Given the description of an element on the screen output the (x, y) to click on. 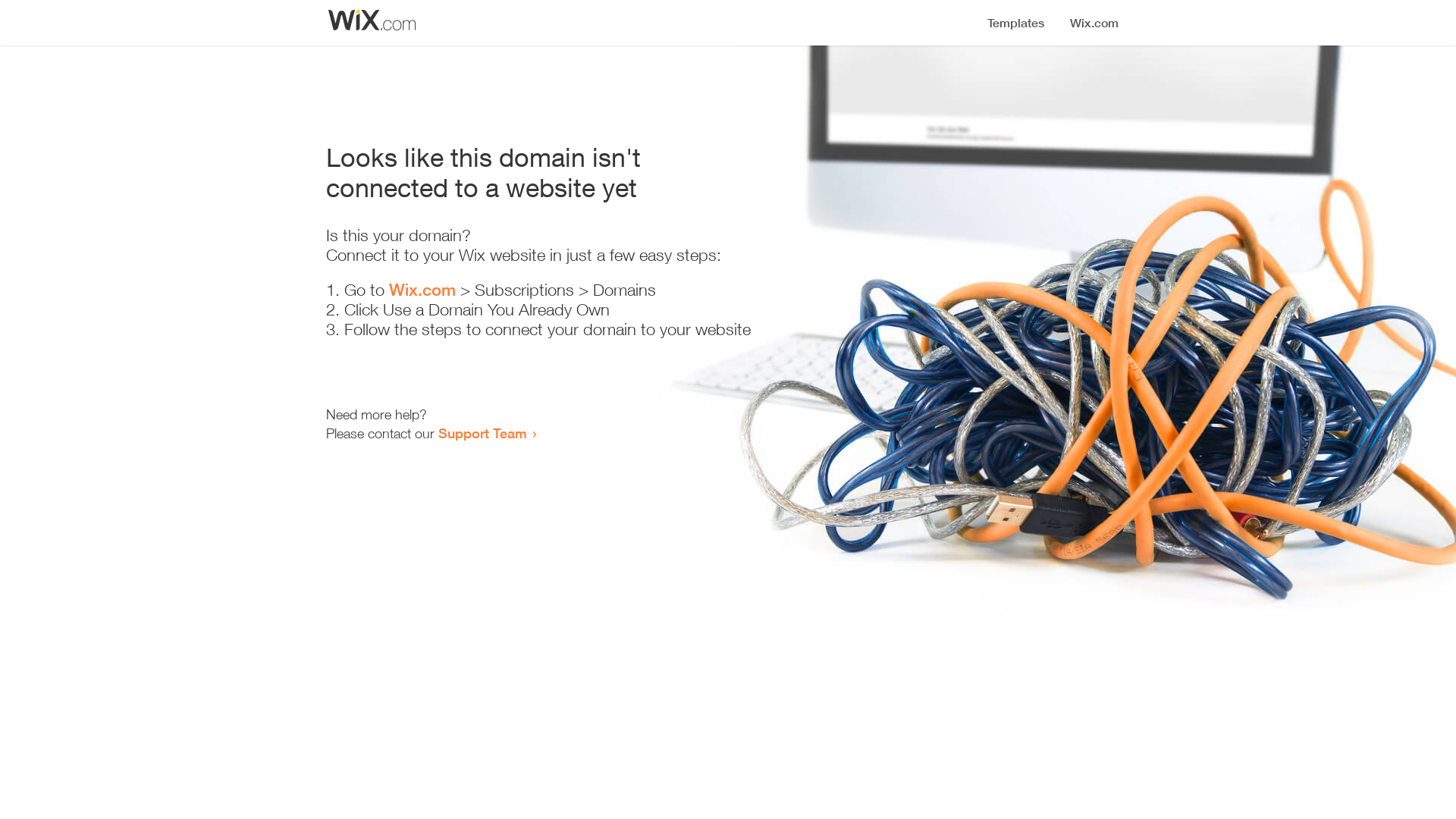
Wix.com Element type: text (422, 289)
Support Team Element type: text (482, 432)
